Given the description of an element on the screen output the (x, y) to click on. 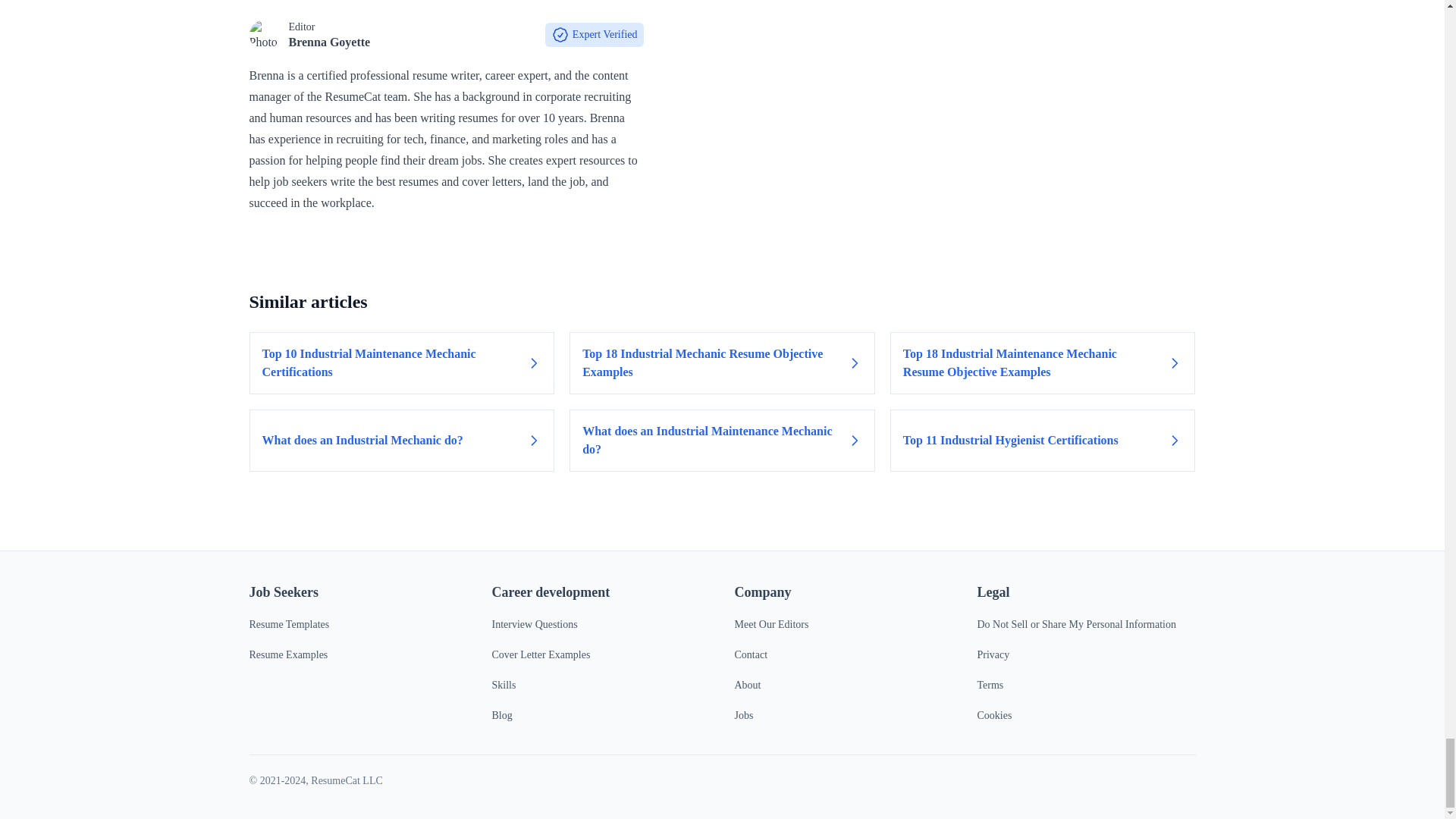
Interview Questions (534, 624)
Terms (989, 685)
Contact (750, 654)
What does an Industrial Maintenance Mechanic do? (722, 440)
Meet Our Editors (770, 624)
Resume Examples (287, 654)
Do Not Sell or Share My Personal Information (1075, 624)
Cover Letter Examples (540, 654)
Top 11 Industrial Hygienist Certifications (1042, 440)
Top 18 Industrial Mechanic Resume Objective Examples (722, 362)
Top 10 Industrial Maintenance Mechanic Certifications (401, 362)
Skills (503, 685)
Cookies (993, 715)
Blog (502, 715)
